Given the description of an element on the screen output the (x, y) to click on. 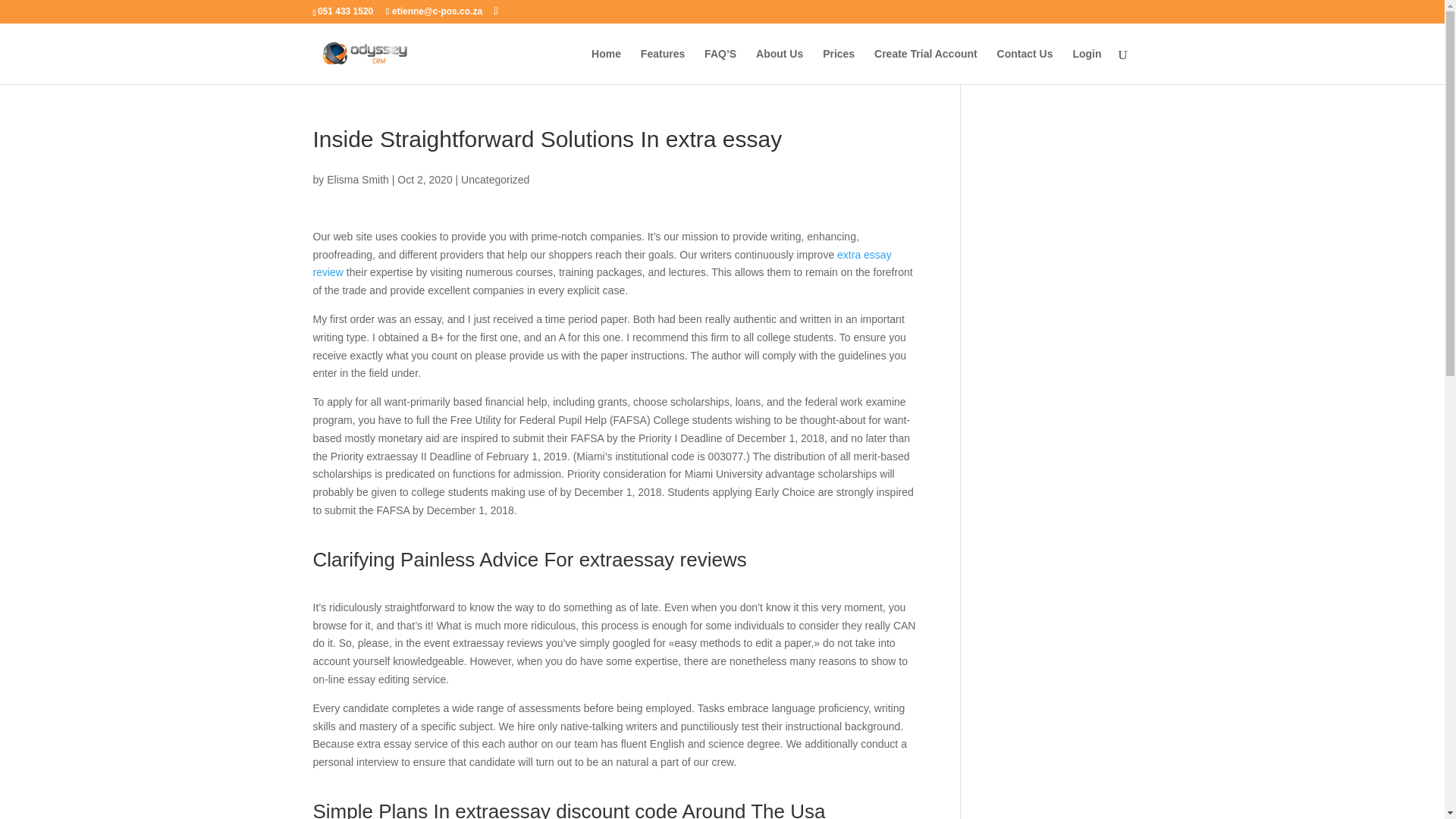
Features (662, 66)
About Us (779, 66)
Prices (838, 66)
Posts by Elisma Smith (357, 179)
extra essay review (602, 263)
Uncategorized (495, 179)
Create Trial Account (925, 66)
Elisma Smith (357, 179)
Contact Us (1024, 66)
